Given the description of an element on the screen output the (x, y) to click on. 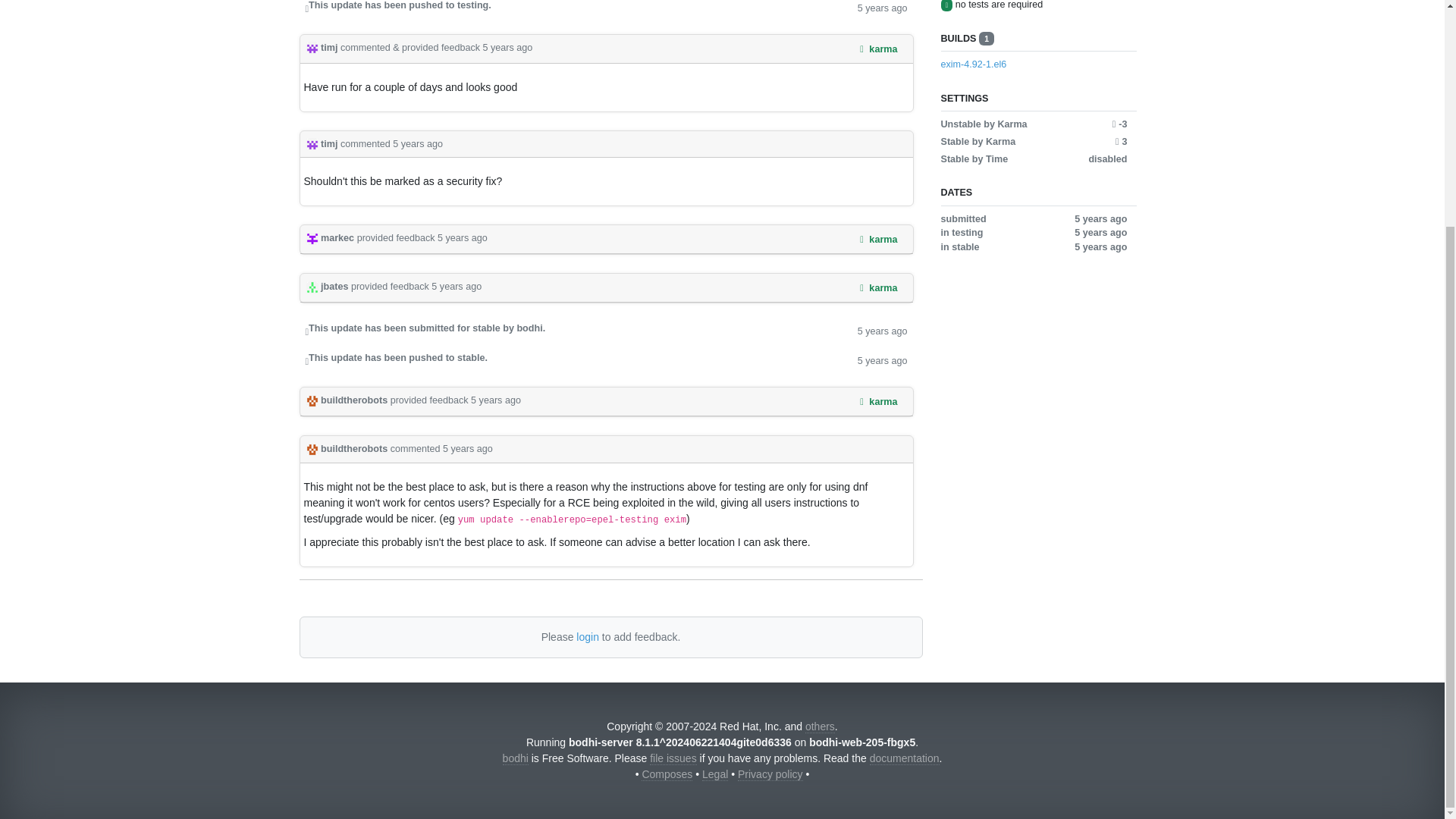
5 years ago (495, 399)
5 years ago (882, 330)
5 years ago (882, 7)
5 years ago (455, 286)
The update will be marked as unstable when karma reaches -3  (1119, 123)
timj (322, 47)
timj (322, 143)
5 years ago (462, 237)
5 years ago (507, 47)
login (587, 636)
markec (330, 237)
5 years ago (882, 359)
exim-4.92-1.el6 (1033, 64)
buildtherobots (347, 448)
jbates (327, 286)
